Given the description of an element on the screen output the (x, y) to click on. 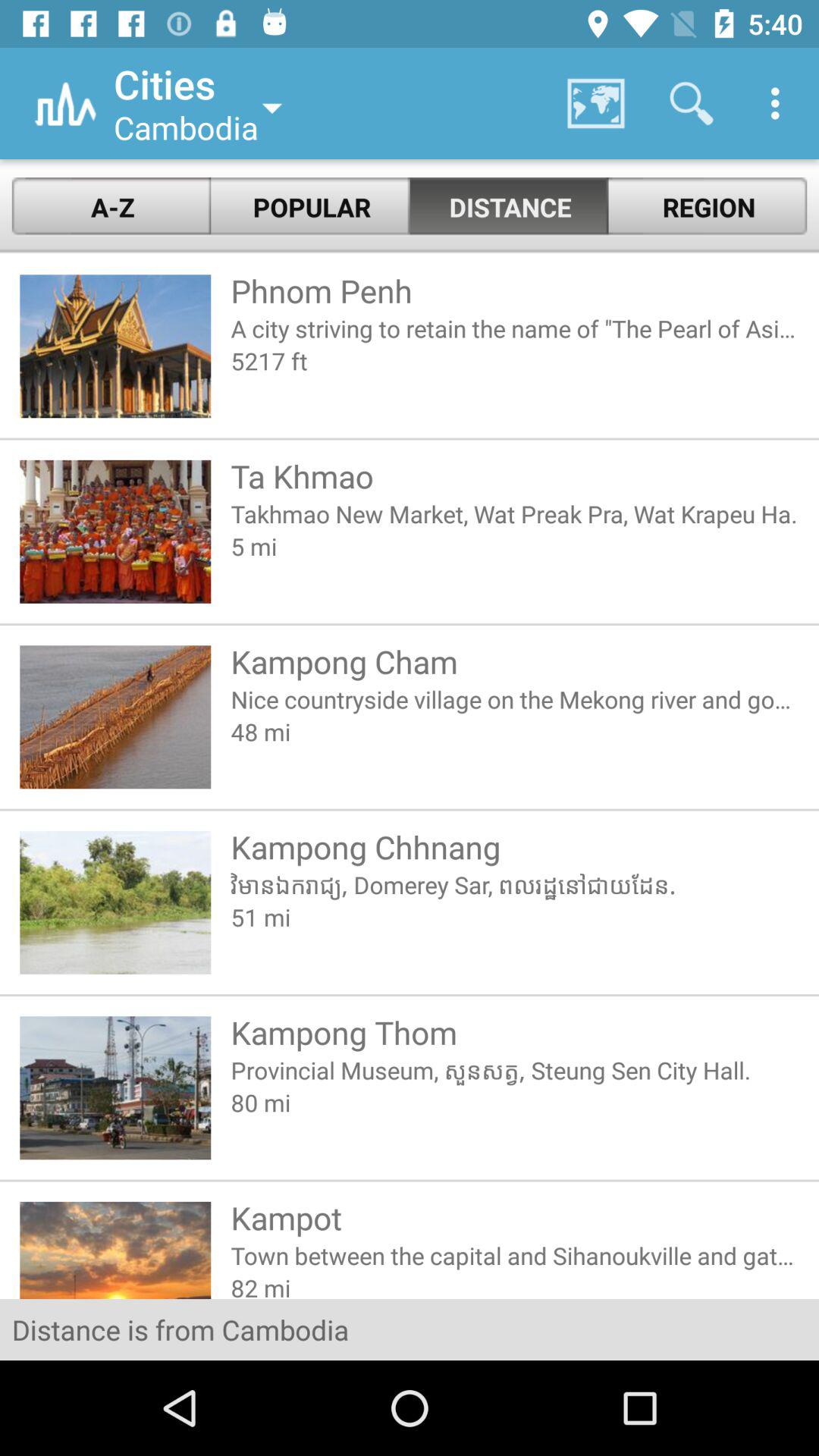
select the 82 mi (514, 1285)
